Given the description of an element on the screen output the (x, y) to click on. 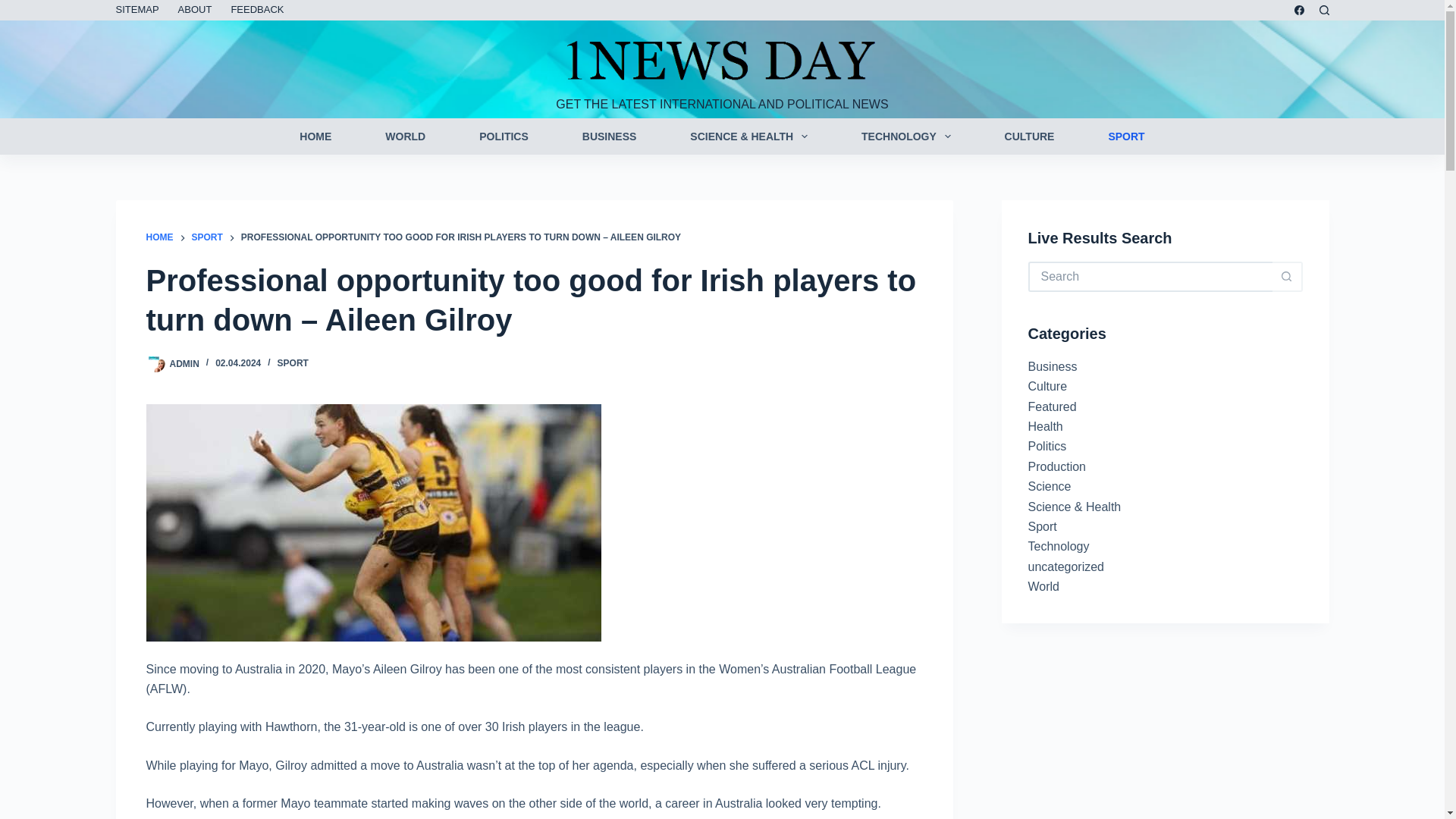
WORLD (405, 135)
CULTURE (1028, 135)
ABOUT (194, 10)
HOME (159, 237)
SPORT (1126, 135)
Posts by admin (184, 362)
BUSINESS (608, 135)
HOME (315, 135)
FEEDBACK (257, 10)
SPORT (206, 237)
Skip to content (15, 7)
TECHNOLOGY (906, 135)
SITEMAP (141, 10)
POLITICS (504, 135)
Search for... (1149, 276)
